Given the description of an element on the screen output the (x, y) to click on. 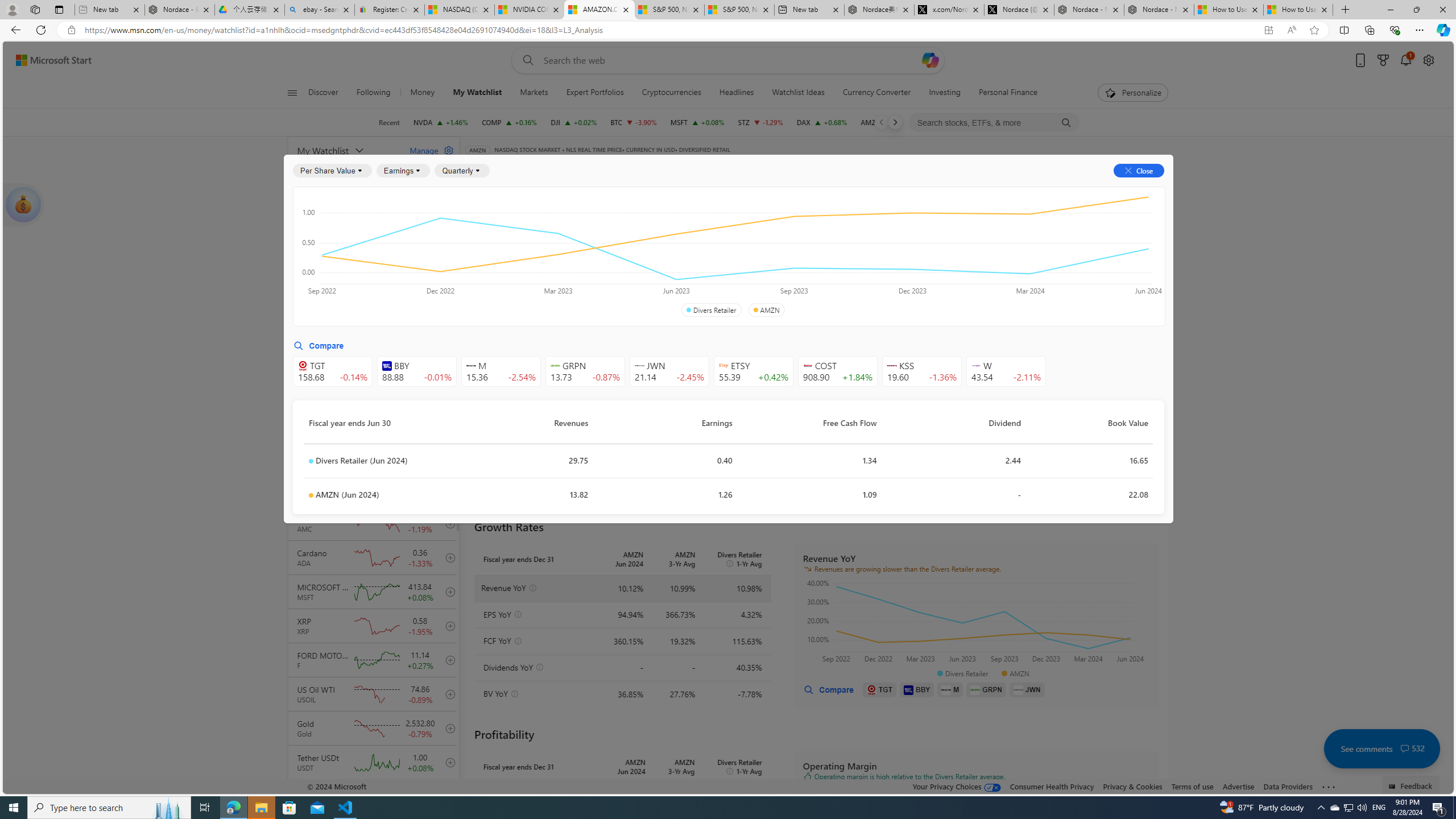
Markets (534, 92)
Your Privacy Choices (956, 786)
Minimize (1390, 9)
Consumer Health Privacy (1051, 785)
Skip to content (49, 59)
TGT (879, 689)
Open Copilot (930, 59)
Add this page to favorites (Ctrl+D) (1314, 29)
App bar (728, 29)
Balance Sheet (614, 223)
Class: feedback_link_icon-DS-EntryPoint1-1 (1393, 786)
Financials (846, 188)
Valuation (714, 253)
DAX DAX increase 18,808.50 +126.69 +0.68% (821, 122)
